Given the description of an element on the screen output the (x, y) to click on. 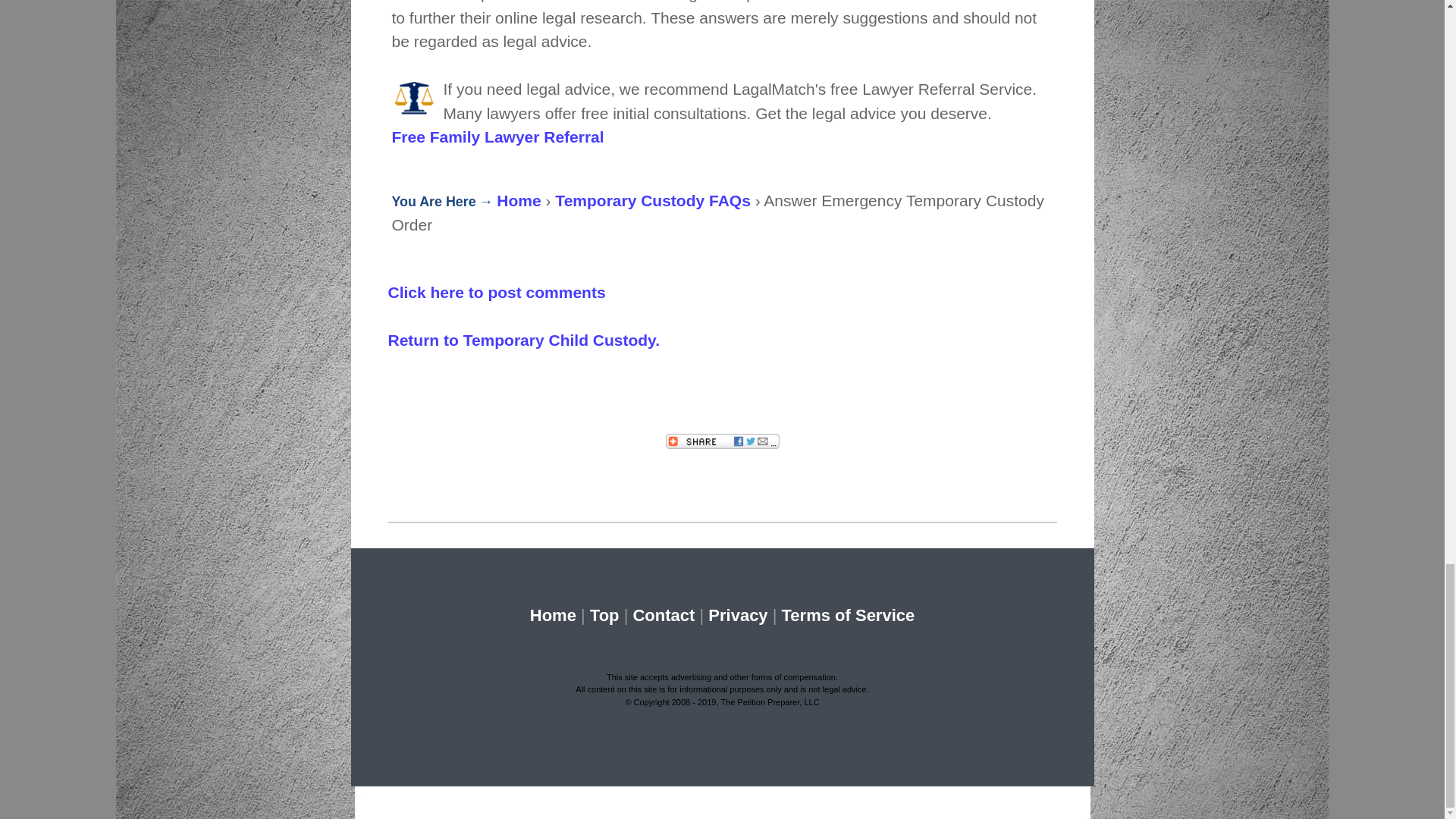
Free Family Lawyer Referral (497, 136)
Return to Temporary Child Custody. (524, 339)
Free Family Lawyer Referrals (413, 99)
Free Referrals to Local Attorneys (497, 136)
Click here to post comments (496, 292)
Home (552, 615)
Home (518, 200)
Temporary Custody FAQs (652, 200)
